Given the description of an element on the screen output the (x, y) to click on. 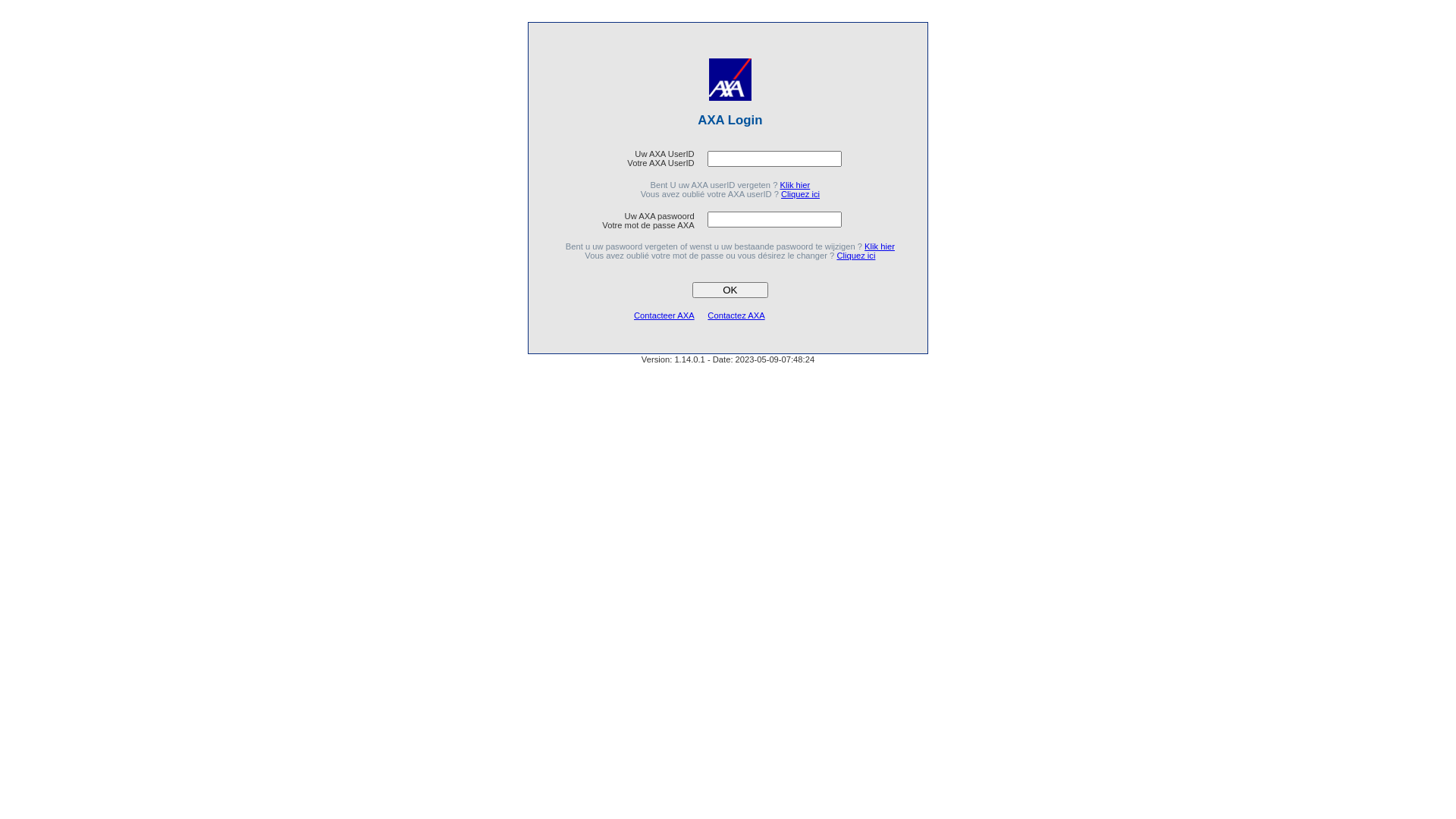
Contactez AXA Element type: text (735, 315)
Klik hier Element type: text (794, 184)
Contacteer AXA Element type: text (663, 315)
Cliquez ici Element type: text (855, 255)
Klik hier Element type: text (879, 246)
OK Element type: text (730, 290)
Cliquez ici Element type: text (800, 193)
